Given the description of an element on the screen output the (x, y) to click on. 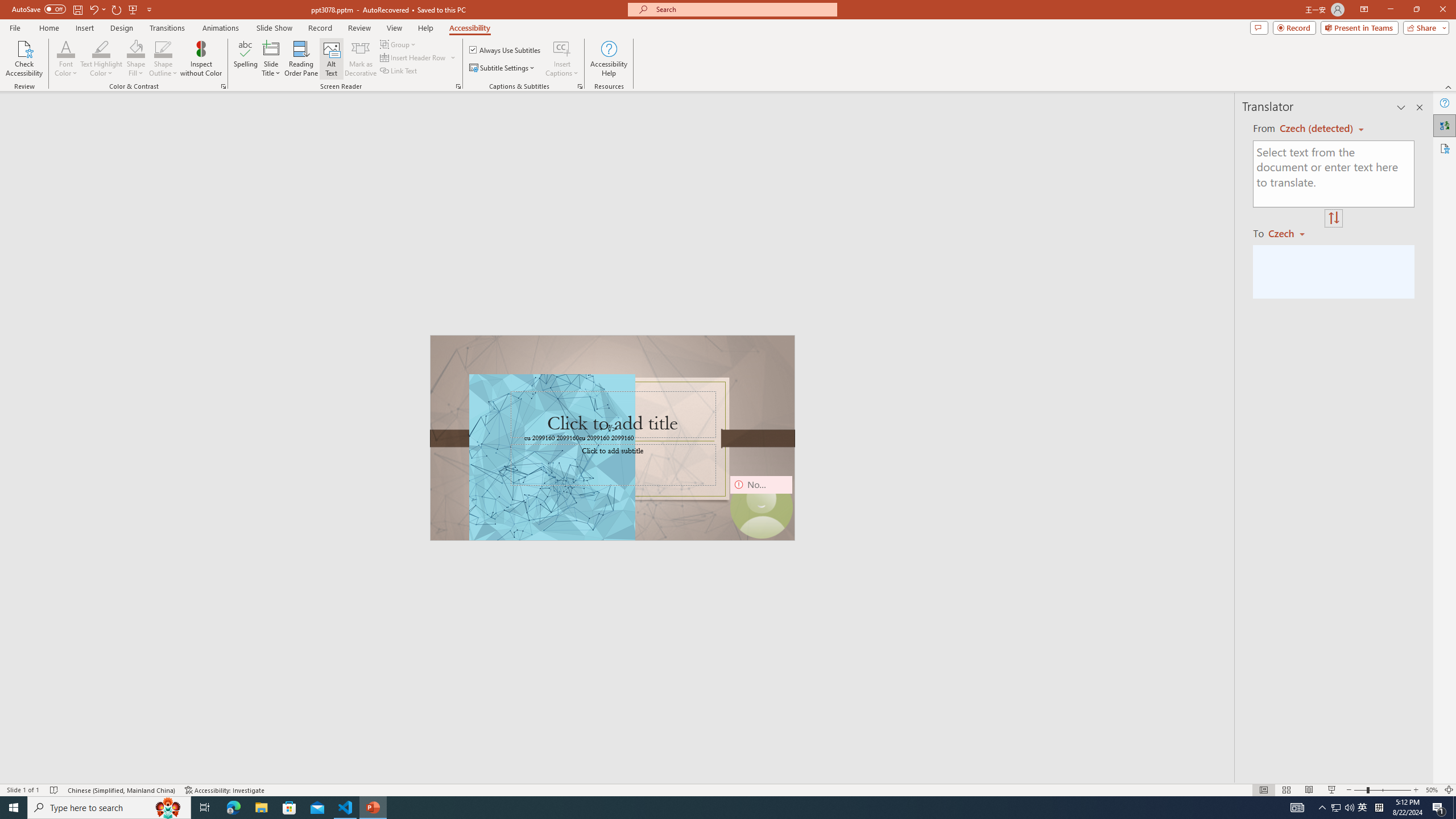
Always Use Subtitles (505, 49)
Color & Contrast (223, 85)
TextBox 7 (608, 428)
Accessibility Help (608, 58)
Link Text (399, 69)
